Given the description of an element on the screen output the (x, y) to click on. 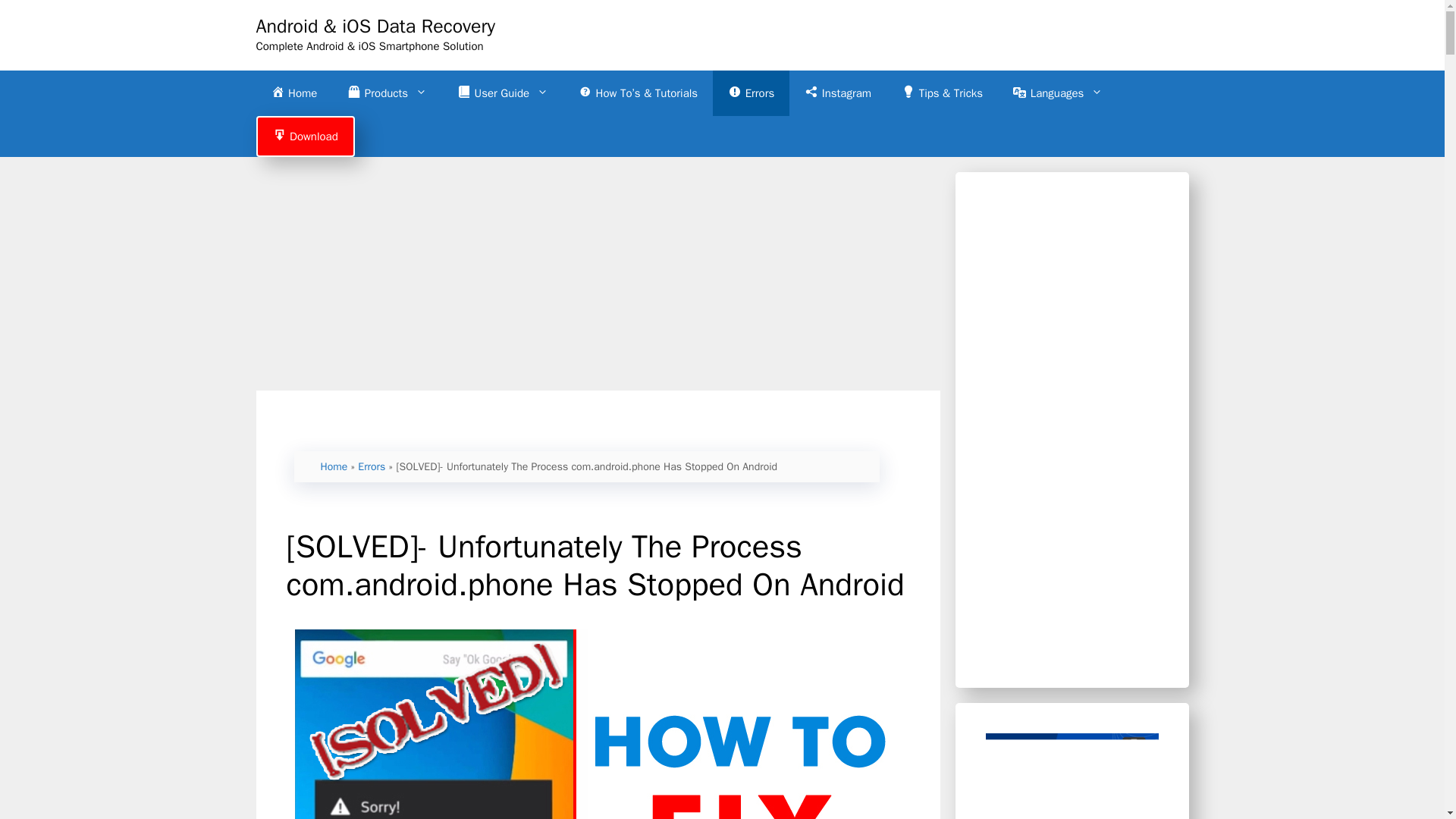
User Guide (502, 92)
Download (305, 135)
Instagram (837, 92)
Errors (371, 465)
Errors (751, 92)
Home (333, 465)
Products (386, 92)
Home (294, 92)
Languages (1057, 92)
